Given the description of an element on the screen output the (x, y) to click on. 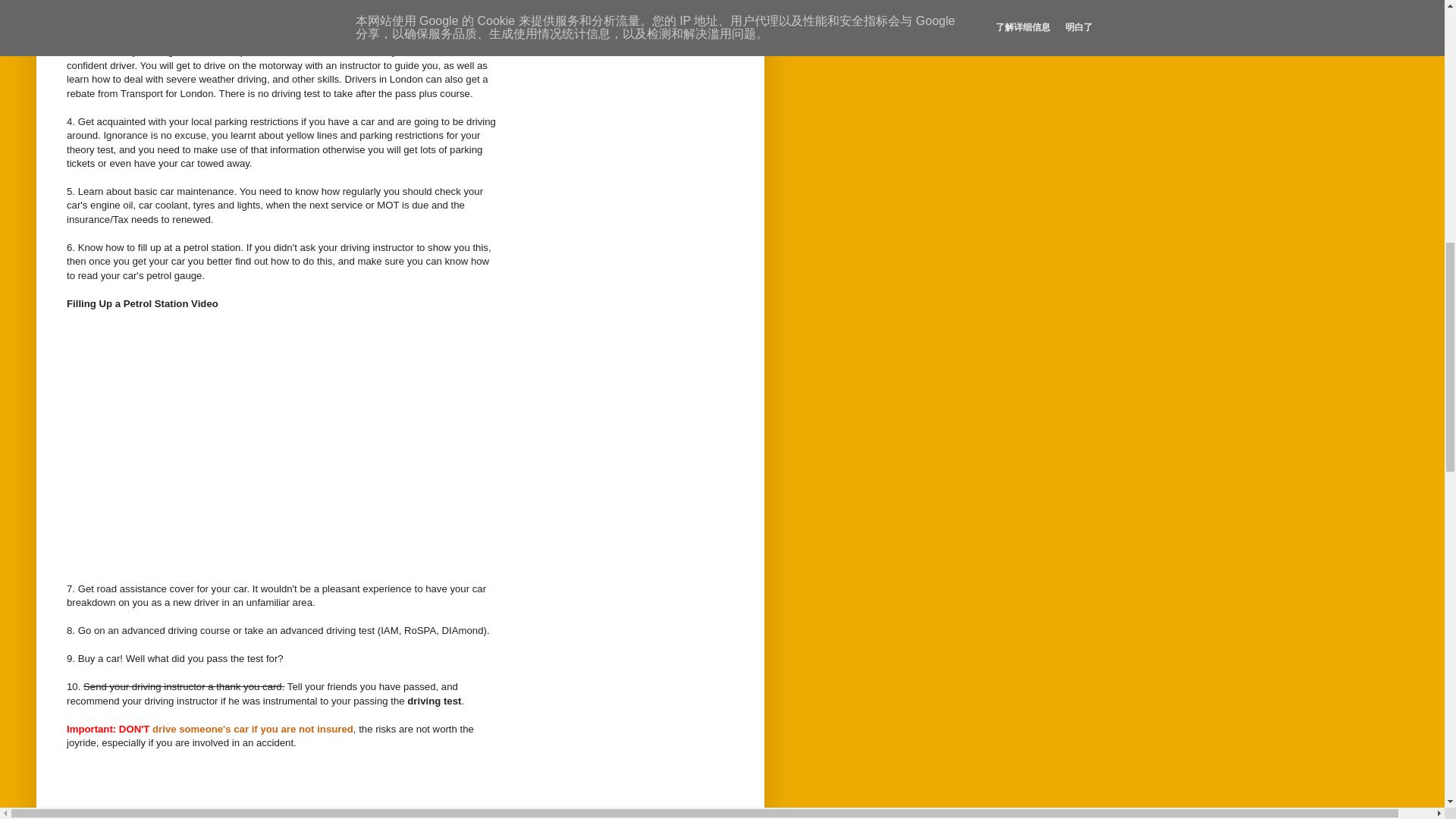
drive someone's car if you are not insured (252, 728)
Pass Plus course (148, 37)
